Given the description of an element on the screen output the (x, y) to click on. 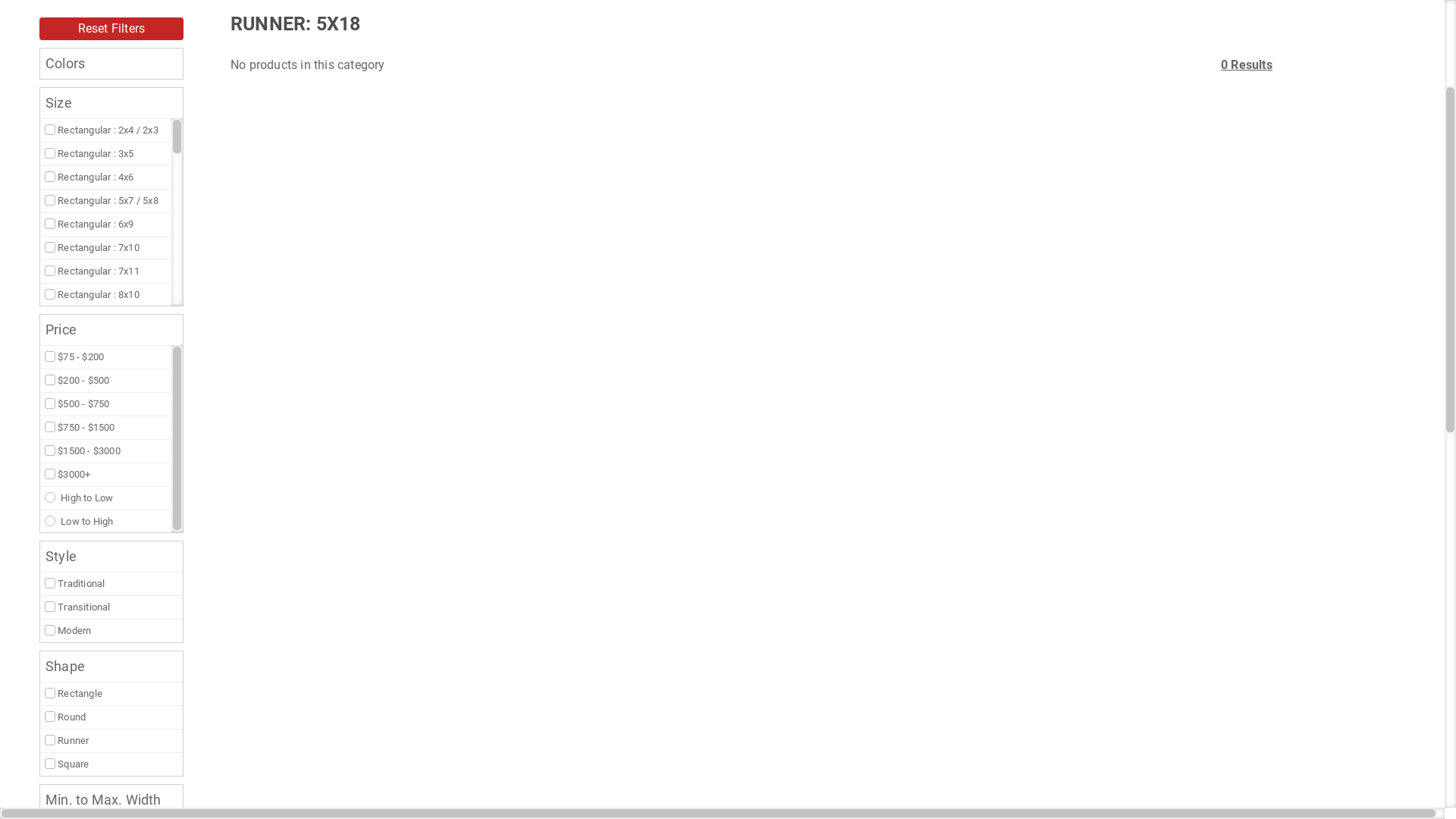
TEL: 201-933-4300 Element type: text (1269, 74)
Facebook Element type: hover (160, 89)
Size Element type: text (292, 170)
Schedule A Live Video Call Element type: text (233, 108)
E-mail: Info@1800getarug.com Element type: text (1269, 88)
Schedule a Video Call/Facetime Element type: text (716, 170)
Cart Element type: text (1424, 171)
Instagram Element type: hover (218, 89)
Reset Filters Element type: text (111, 227)
View Your Cart Element type: hover (1423, 165)
My Account Element type: hover (1386, 165)
Home Element type: text (24, 170)
More Element type: text (1025, 170)
Custom Rugs Element type: text (463, 170)
Videos Element type: text (943, 170)
Visual Search Element type: text (81, 170)
Special Offers Element type: text (883, 170)
Shop Element type: text (136, 170)
1800getarug Handmade Persian and Oriental Rugs Element type: hover (54, 81)
Pinterest Element type: hover (199, 88)
Collections Element type: text (188, 170)
Gift Certificates Element type: text (541, 170)
Rug Pads Element type: text (611, 170)
Hours of Operation & Showroom/Warehouse Address Element type: text (1269, 112)
Account Element type: text (1386, 171)
Blogs Element type: text (984, 170)
Colors Element type: text (247, 170)
5 of 5
601 reviews Element type: text (1030, 87)
PreHolidays Rug Sale - Save 20% with Coupon Code Holiday23 Element type: text (722, 15)
Cleaning & Care Guide Element type: text (233, 128)
Oriental Rug Services Element type: text (368, 170)
eKomi gold seal Award Element type: hover (947, 85)
Twitter Element type: hover (180, 89)
Gallery Element type: text (818, 170)
Go Element type: text (803, 80)
